Given the description of an element on the screen output the (x, y) to click on. 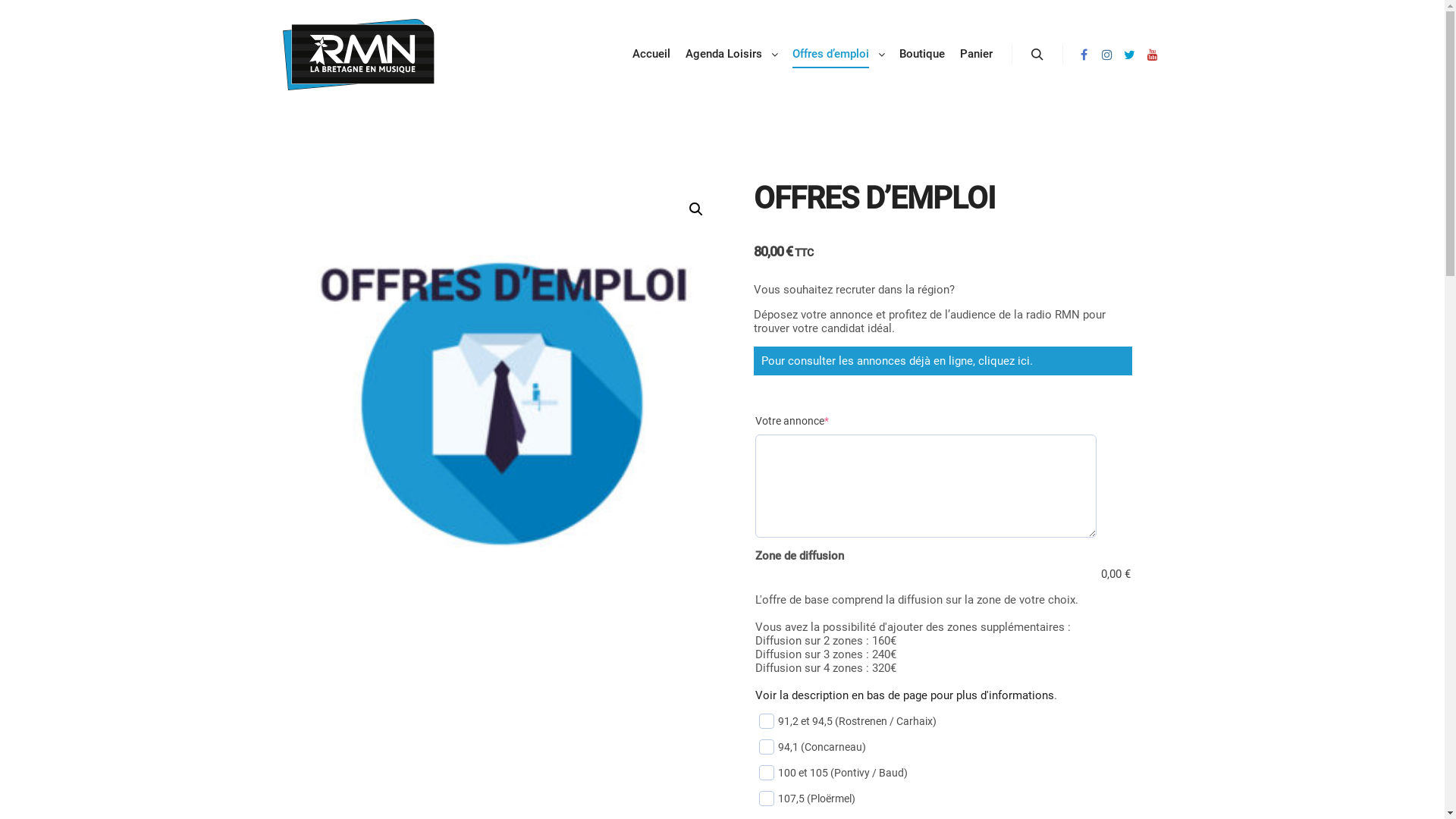
Instagram Element type: hover (1106, 54)
Facebook Element type: hover (1083, 54)
Panier Element type: text (976, 54)
Twitter Element type: hover (1129, 54)
Boutique Element type: text (921, 54)
emploi Element type: hover (501, 403)
Rechercher Element type: text (1037, 54)
Voir la description en bas de page pour plus d'informations Element type: text (904, 695)
Agenda Loisirs Element type: text (721, 54)
Accueil Element type: text (650, 54)
cliquez ici Element type: text (1003, 360)
RMN la Bretagne en Musique Element type: hover (357, 54)
YouTube Element type: hover (1151, 54)
RMN la Bretagne en Musique Element type: hover (282, 128)
